Given the description of an element on the screen output the (x, y) to click on. 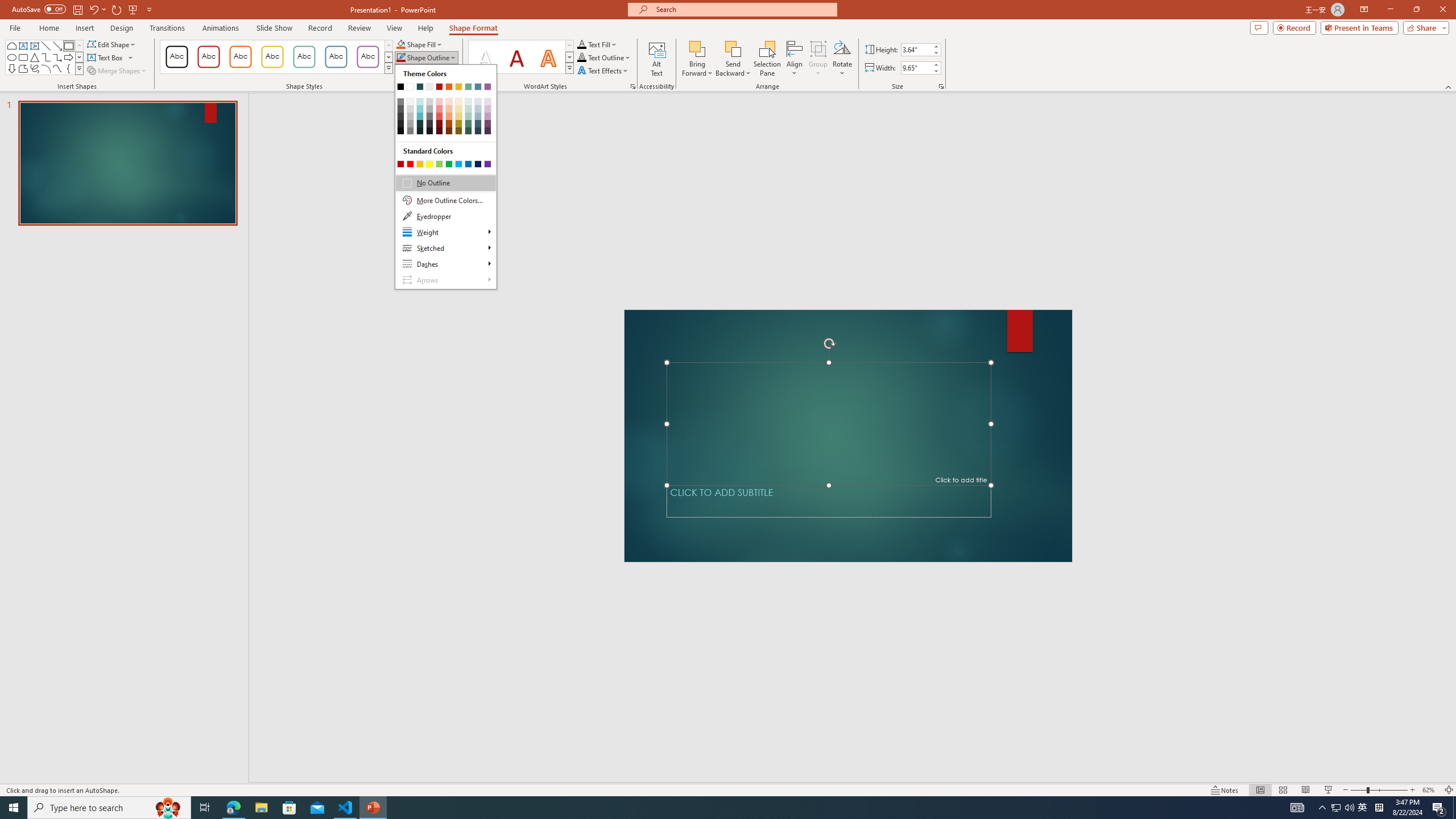
Colored Outline - Orange, Accent 2 (240, 56)
Subtitle TextBox (828, 500)
